Given the description of an element on the screen output the (x, y) to click on. 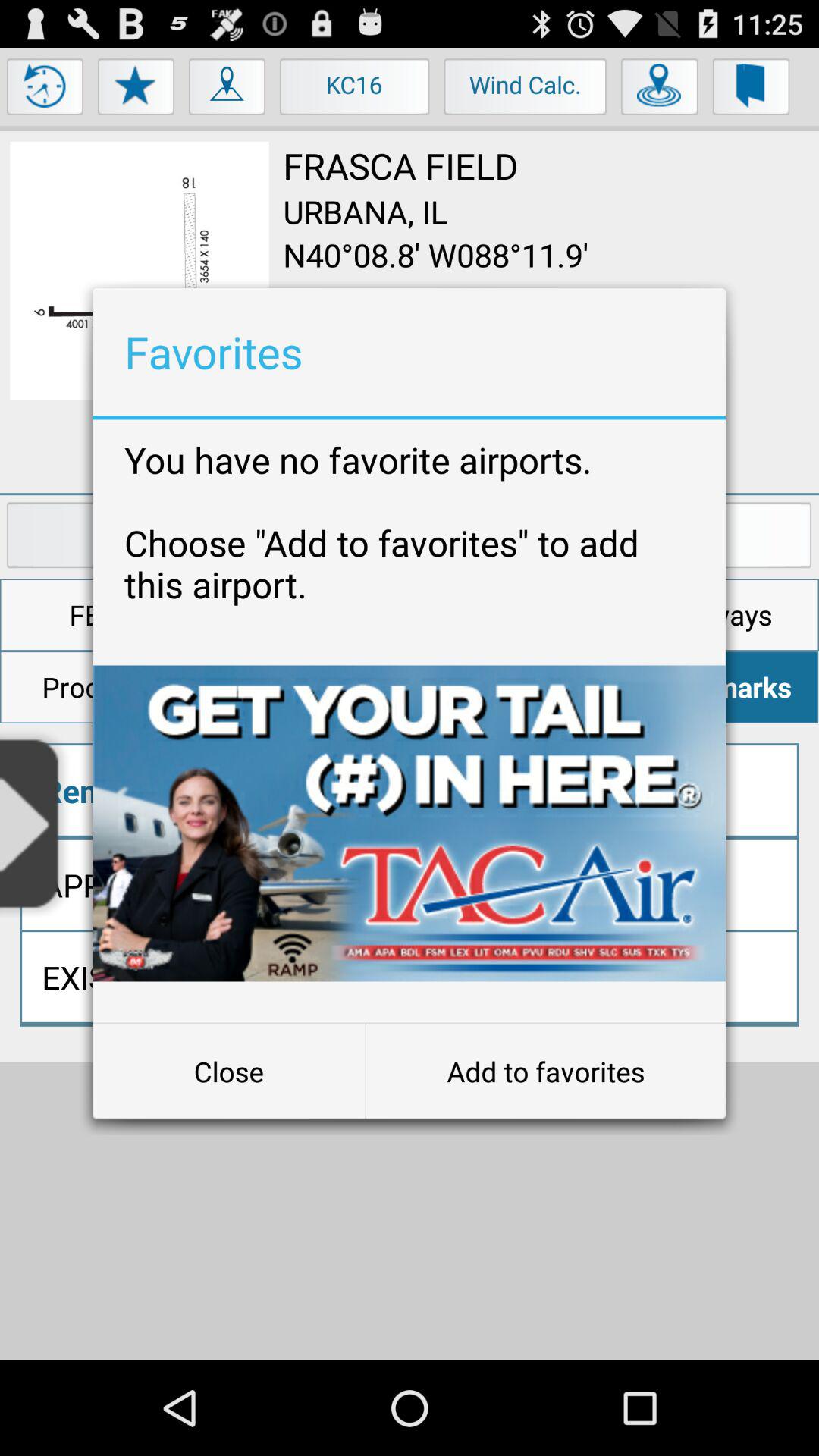
turn off icon above the close (408, 823)
